Given the description of an element on the screen output the (x, y) to click on. 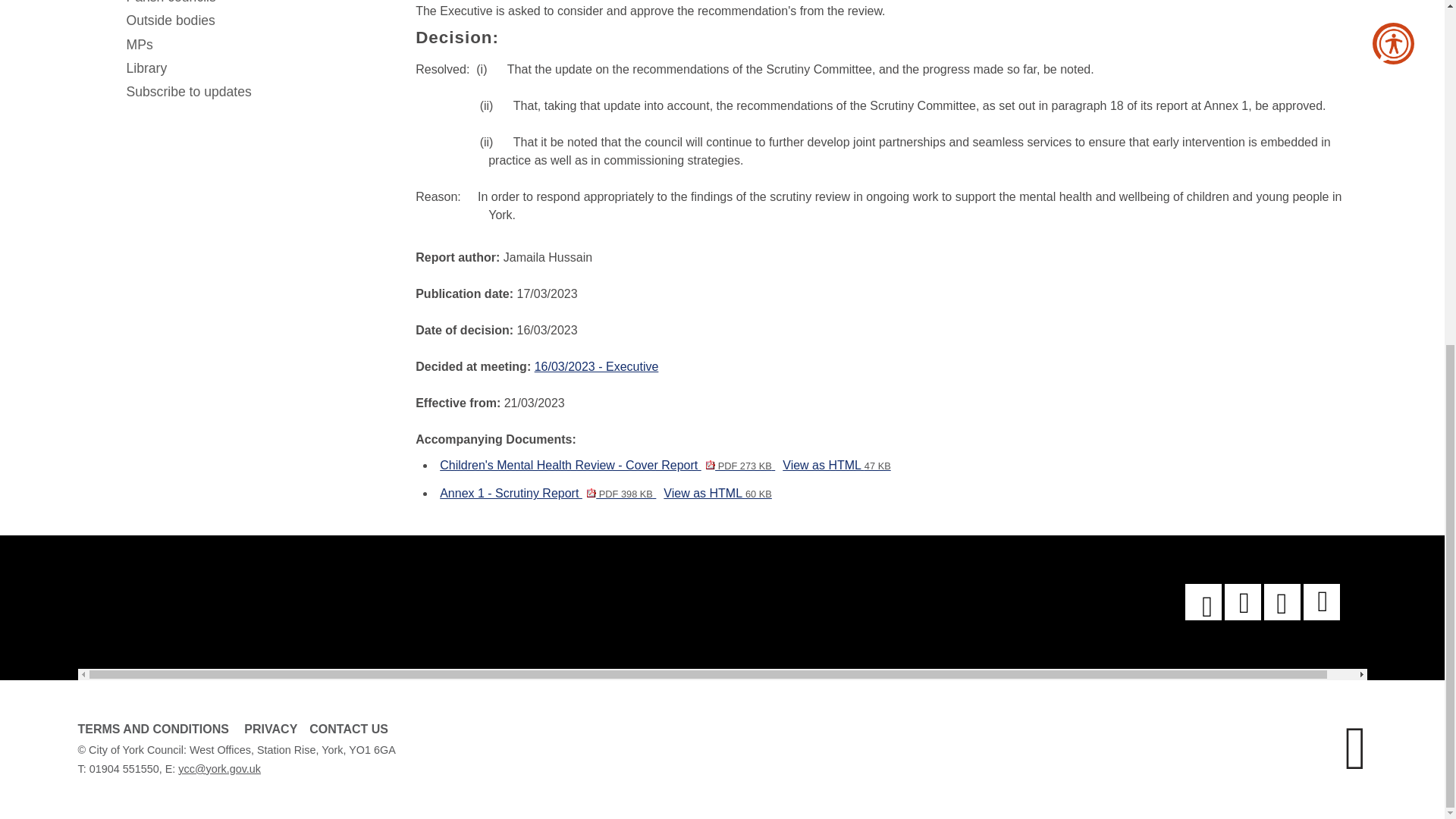
Children's Mental Health Review - Cover Report PDF 273 KB (606, 464)
Subscribe to updates (258, 92)
Twitter (1281, 601)
Link to parish council details (258, 4)
Facebook (1203, 601)
Flickr (1321, 601)
Annex 1 - Scrutiny Report PDF 398 KB (547, 492)
TERMS AND CONDITIONS (152, 728)
Library (258, 68)
Link to your MPs (258, 44)
Link to Outside Bodies (258, 20)
MPs (258, 44)
You Tube (1242, 601)
Link to file Children's Mental Health Review - Cover Report (606, 464)
